Given the description of an element on the screen output the (x, y) to click on. 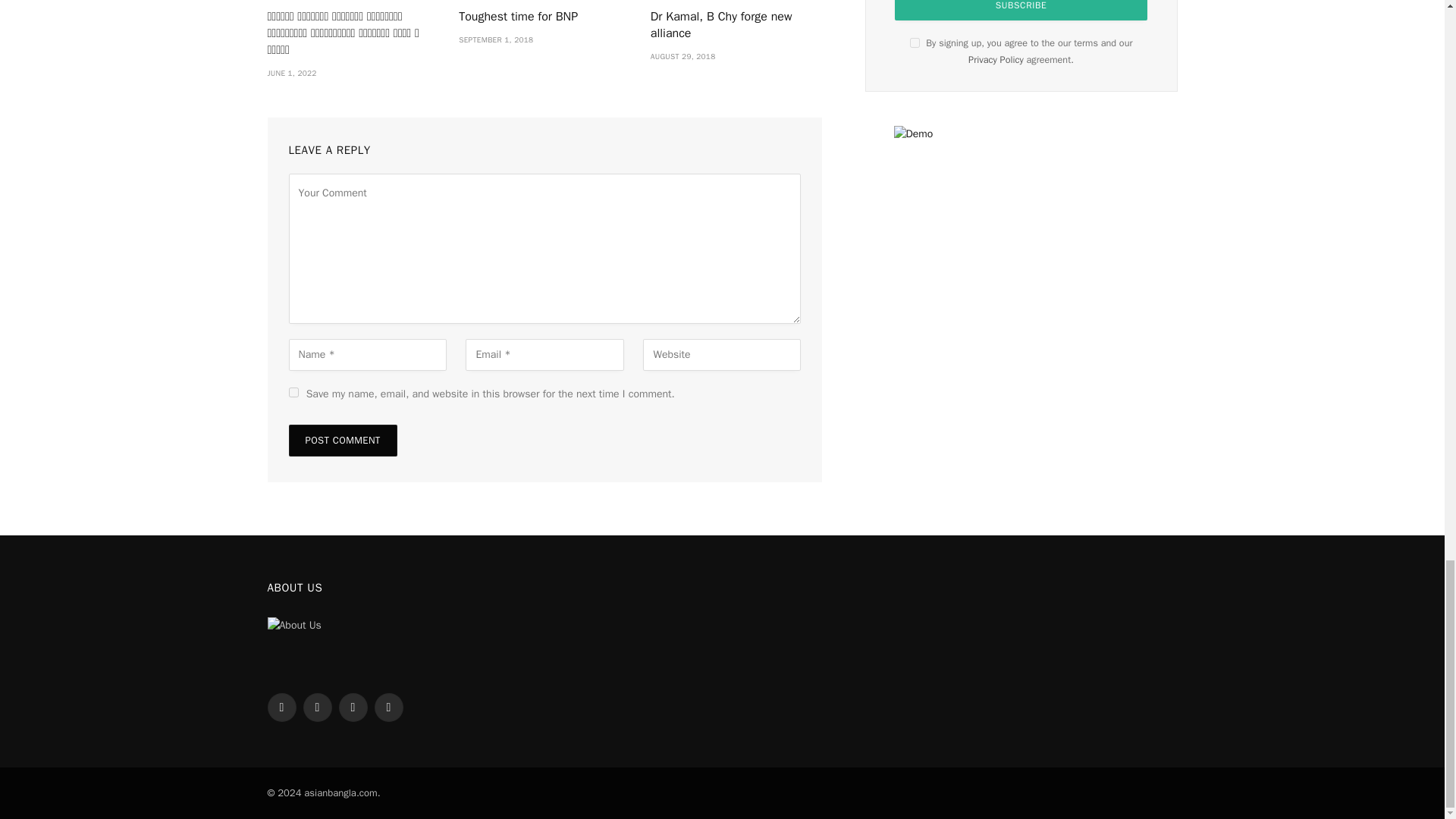
Post Comment (342, 440)
yes (293, 392)
Subscribe (1021, 10)
on (915, 42)
